Given the description of an element on the screen output the (x, y) to click on. 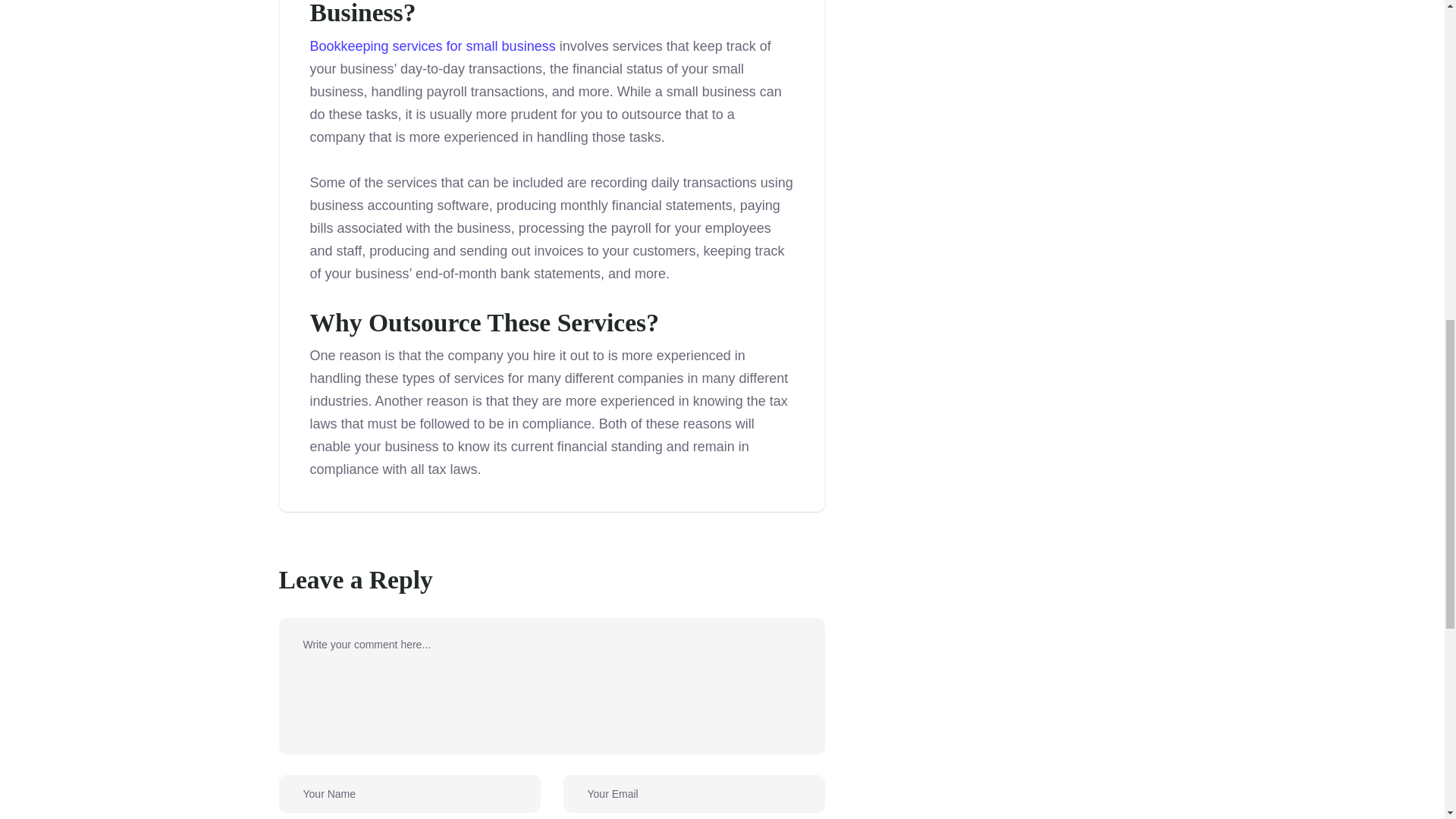
Bookkeeping services for small business (431, 46)
